Given the description of an element on the screen output the (x, y) to click on. 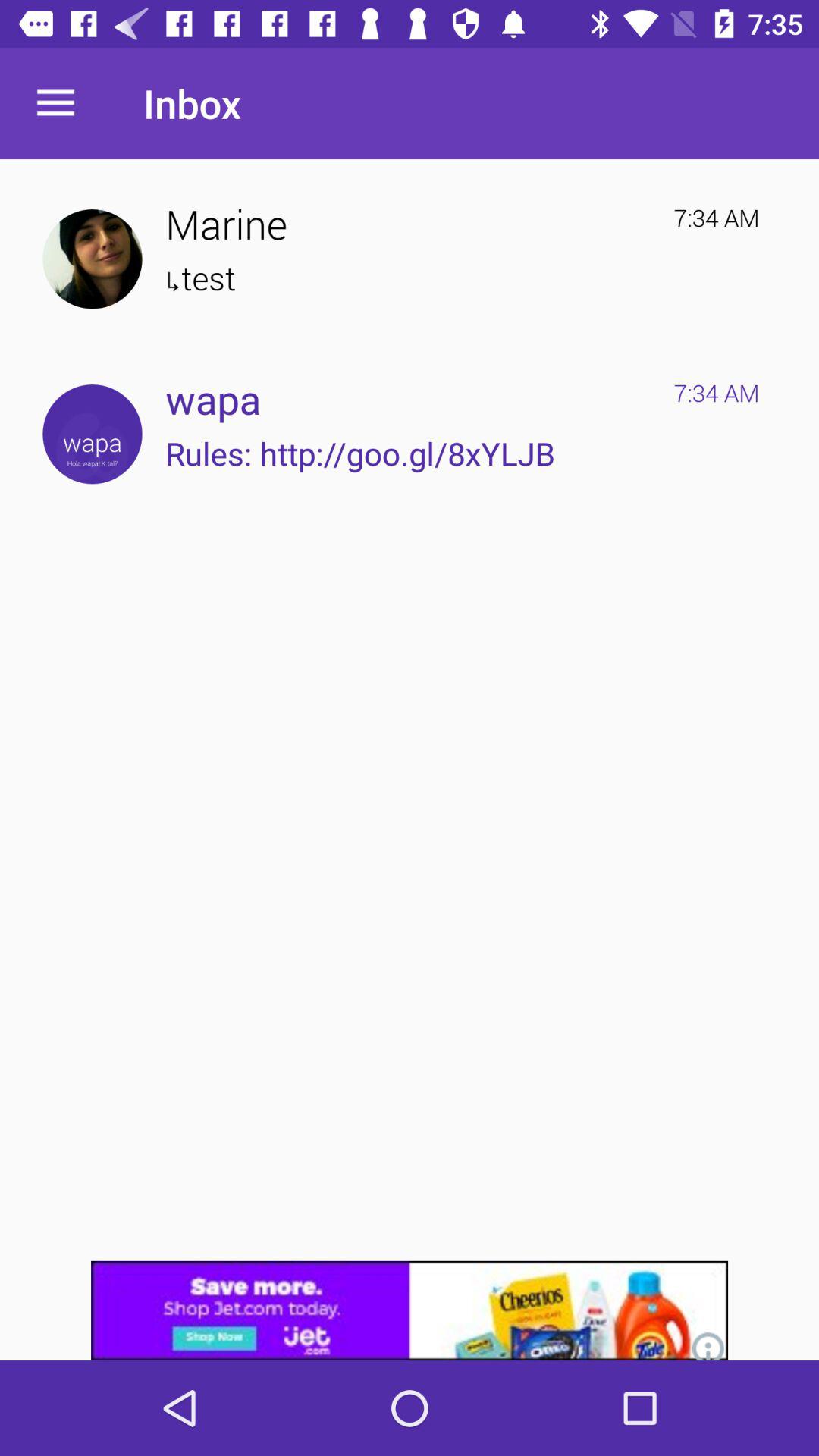
view profile (92, 258)
